Given the description of an element on the screen output the (x, y) to click on. 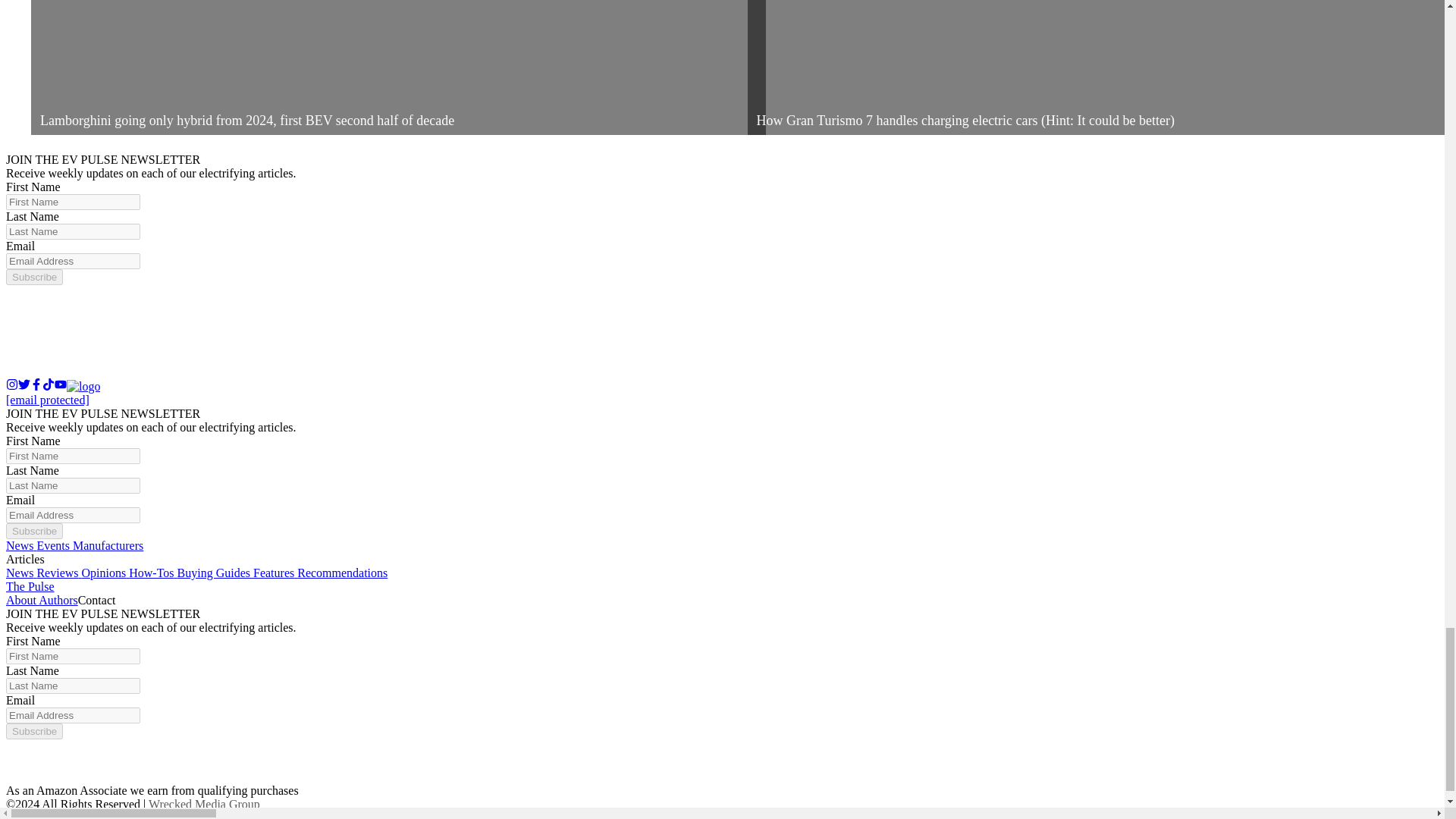
Subscribe (33, 530)
Subscribe (33, 277)
Subscribe (33, 731)
